Given the description of an element on the screen output the (x, y) to click on. 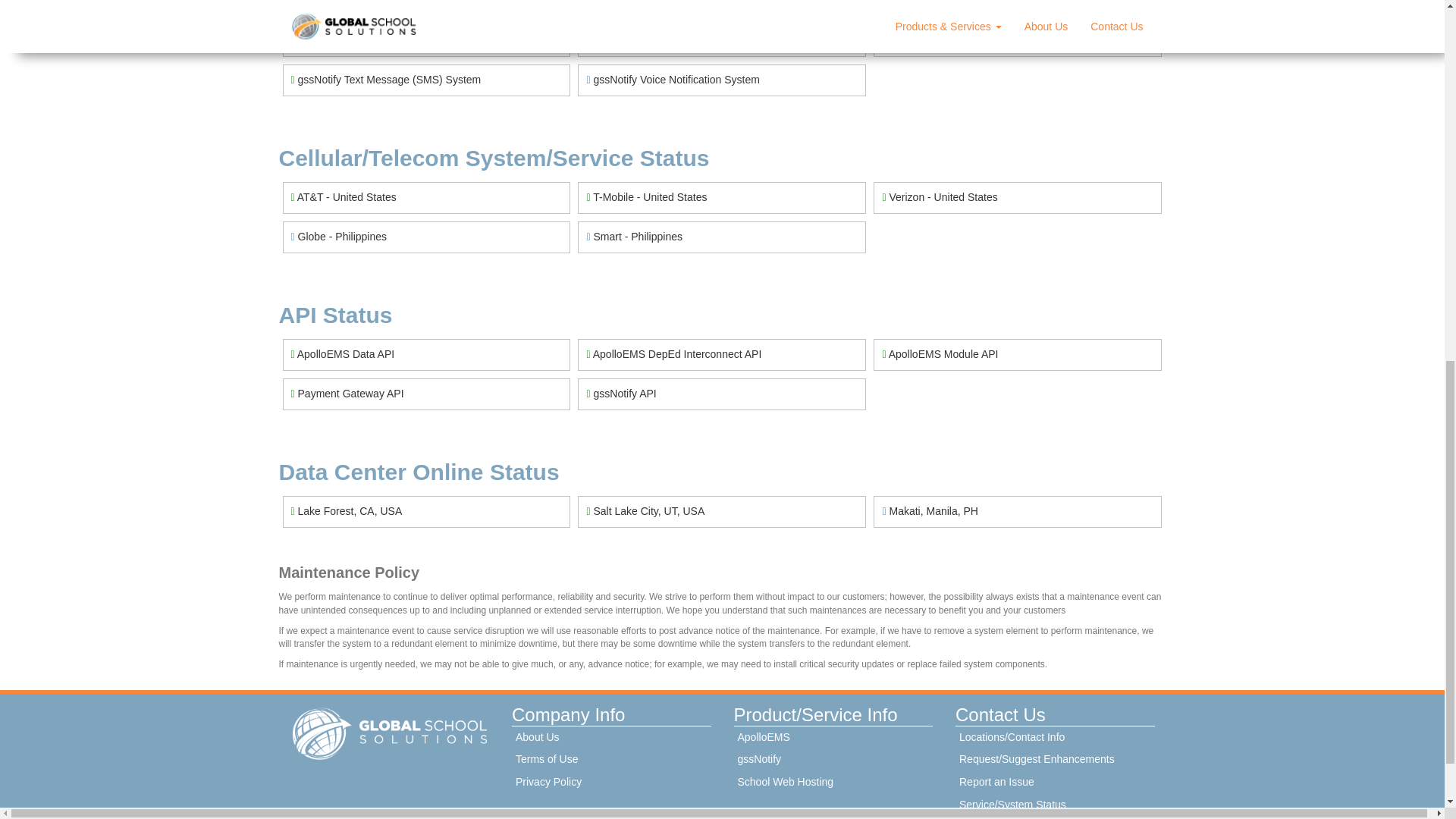
Report an Issue (1054, 782)
Terms of Use (611, 759)
Privacy Policy (611, 782)
School Web Hosting (833, 782)
gssNotify (833, 759)
About Us (611, 737)
ApolloEMS (833, 737)
